Given the description of an element on the screen output the (x, y) to click on. 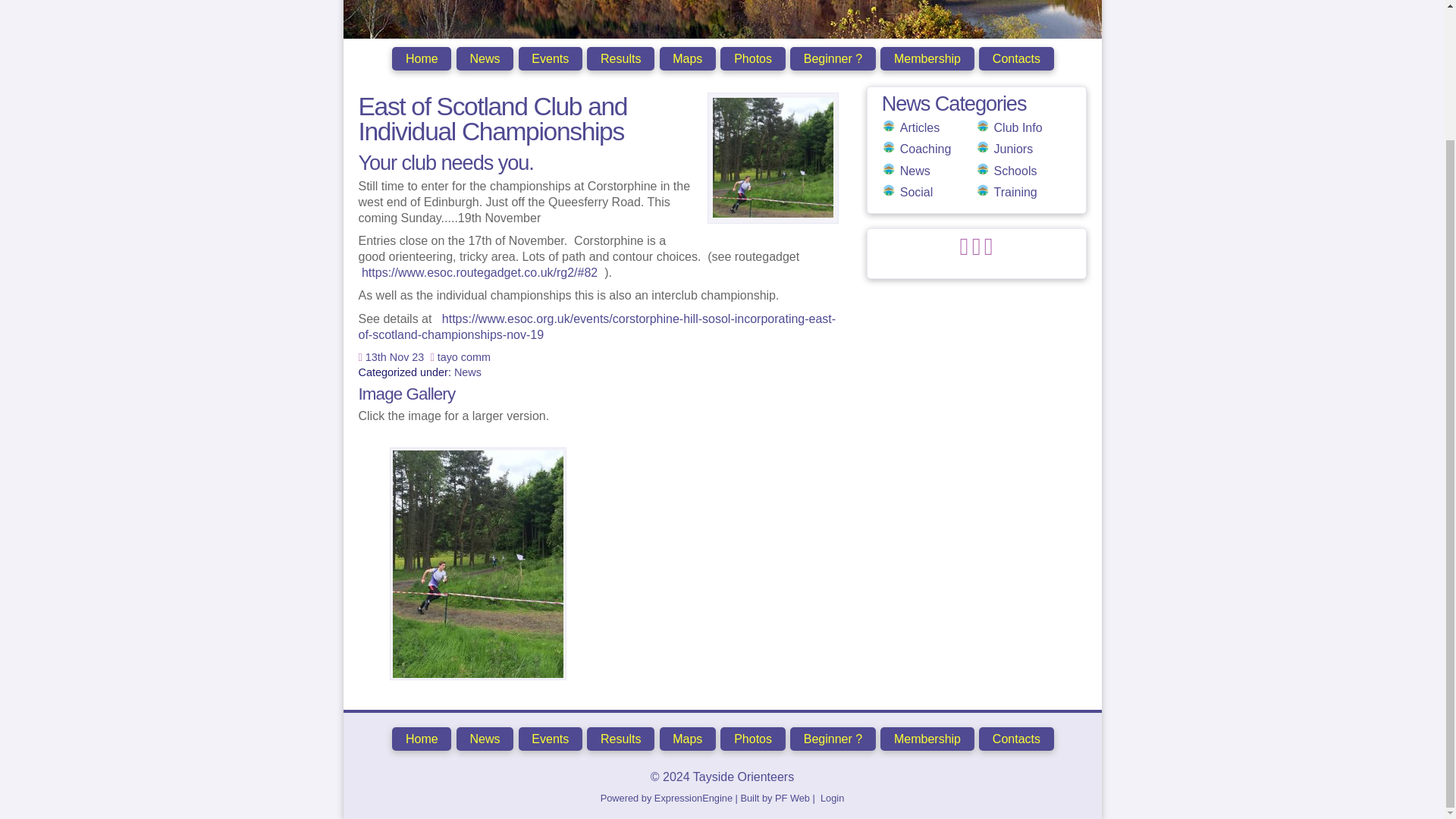
View our range of maps (687, 58)
Membership information (927, 58)
Juniors (1013, 148)
Photos (752, 58)
Contacts (1016, 58)
Details of future events (550, 58)
Results (619, 58)
Photo Gallery (752, 58)
Schools (1015, 170)
Maps (687, 58)
Who to contact (1016, 58)
Home (421, 58)
Results (619, 739)
Membership (927, 58)
Results and Reports from previous events (619, 58)
